Given the description of an element on the screen output the (x, y) to click on. 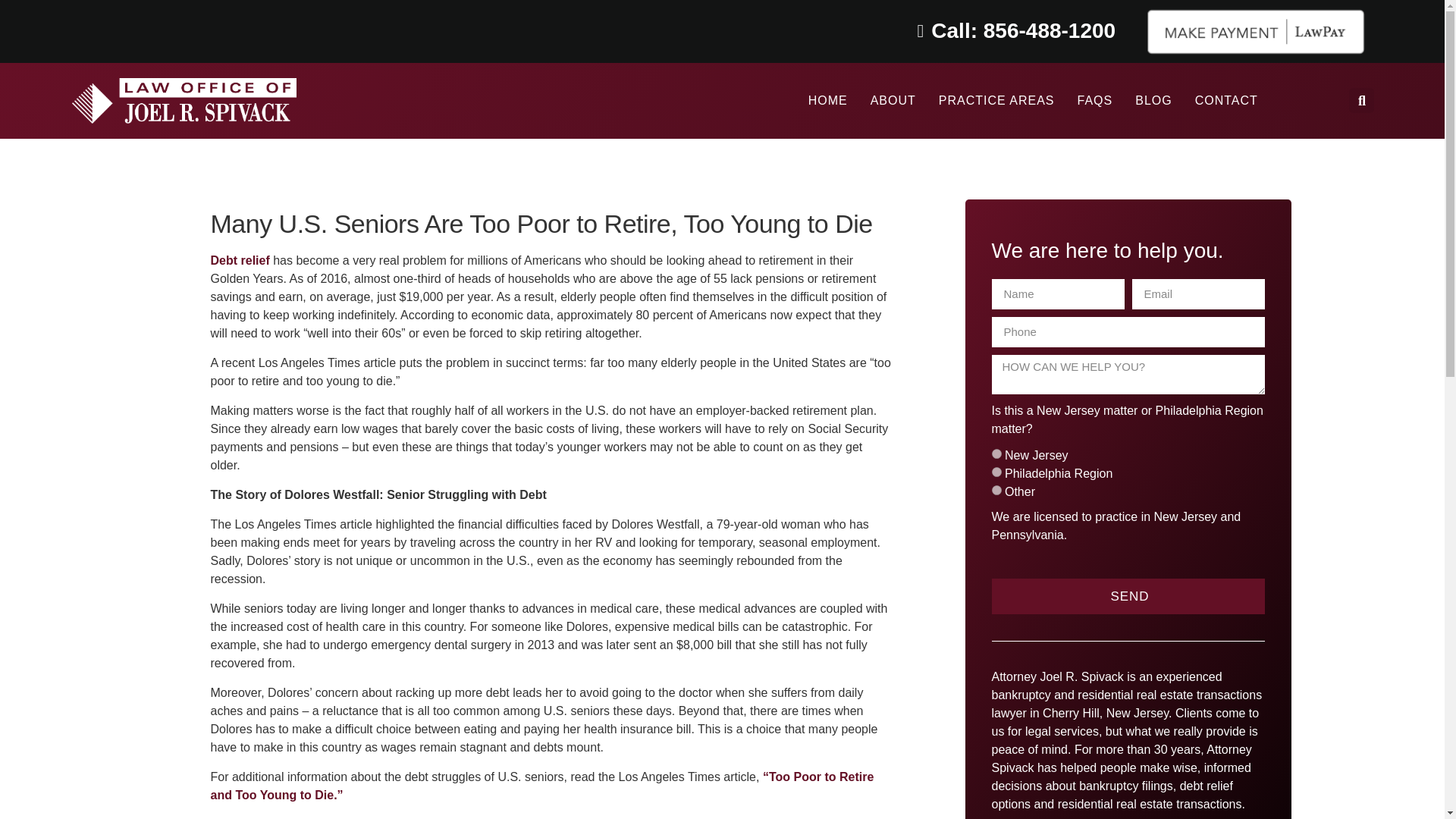
CONTACT (1226, 100)
HOME (827, 100)
BLOG (1153, 100)
FAQS (1095, 100)
ABOUT (892, 100)
PRACTICE AREAS (996, 100)
Call: 856-488-1200 (1008, 31)
New Jersey (996, 453)
Other (996, 490)
Philadelphia Region (996, 471)
